Given the description of an element on the screen output the (x, y) to click on. 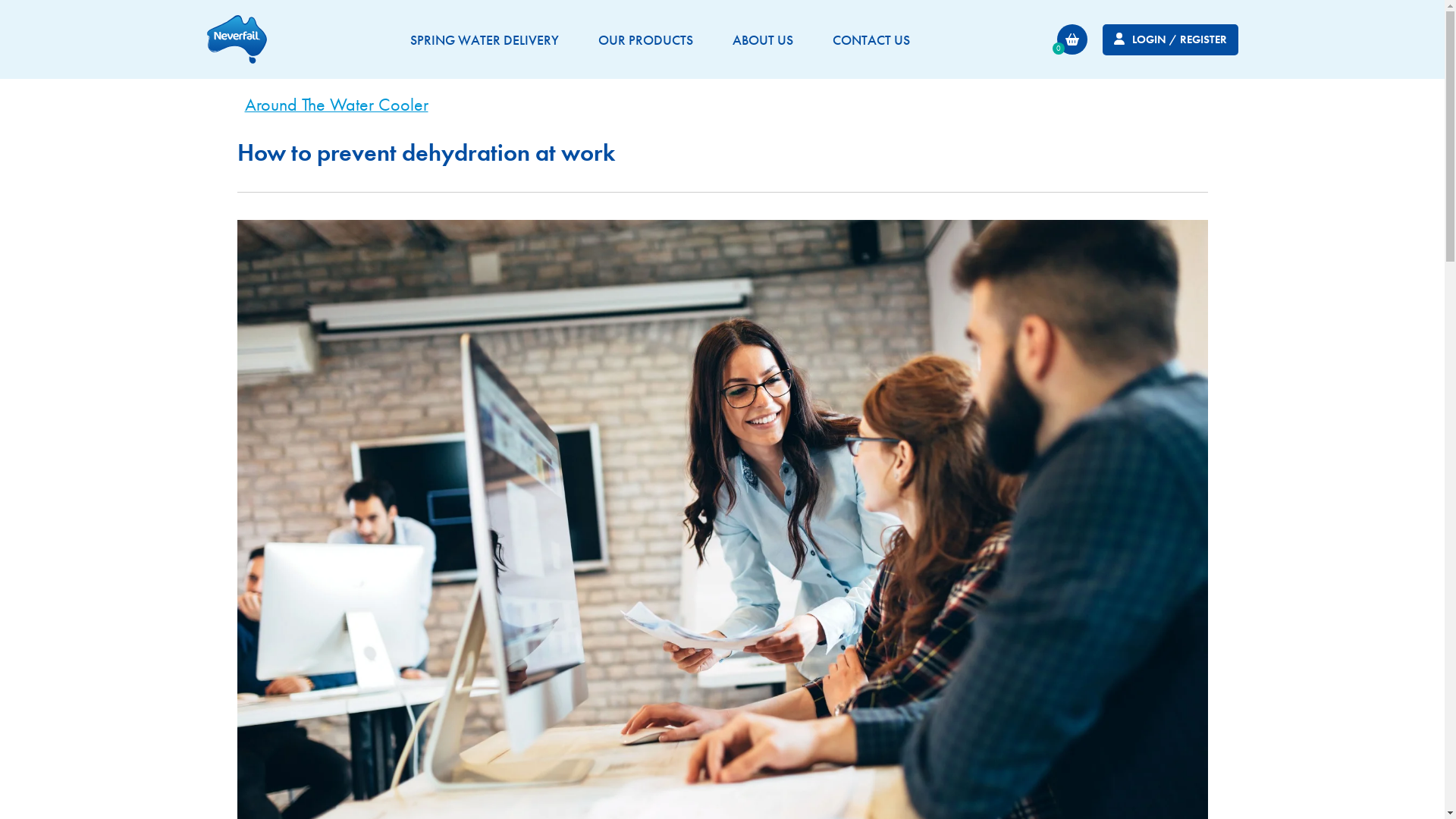
LOGIN / REGISTER Element type: text (1170, 39)
OUR PRODUCTS Element type: text (645, 39)
0 Element type: text (1072, 39)
Neverfail Element type: hover (236, 39)
CONTACT US Element type: text (870, 39)
SPRING WATER DELIVERY Element type: text (484, 39)
Around The Water Cooler Element type: text (335, 106)
ABOUT US Element type: text (761, 39)
